Given the description of an element on the screen output the (x, y) to click on. 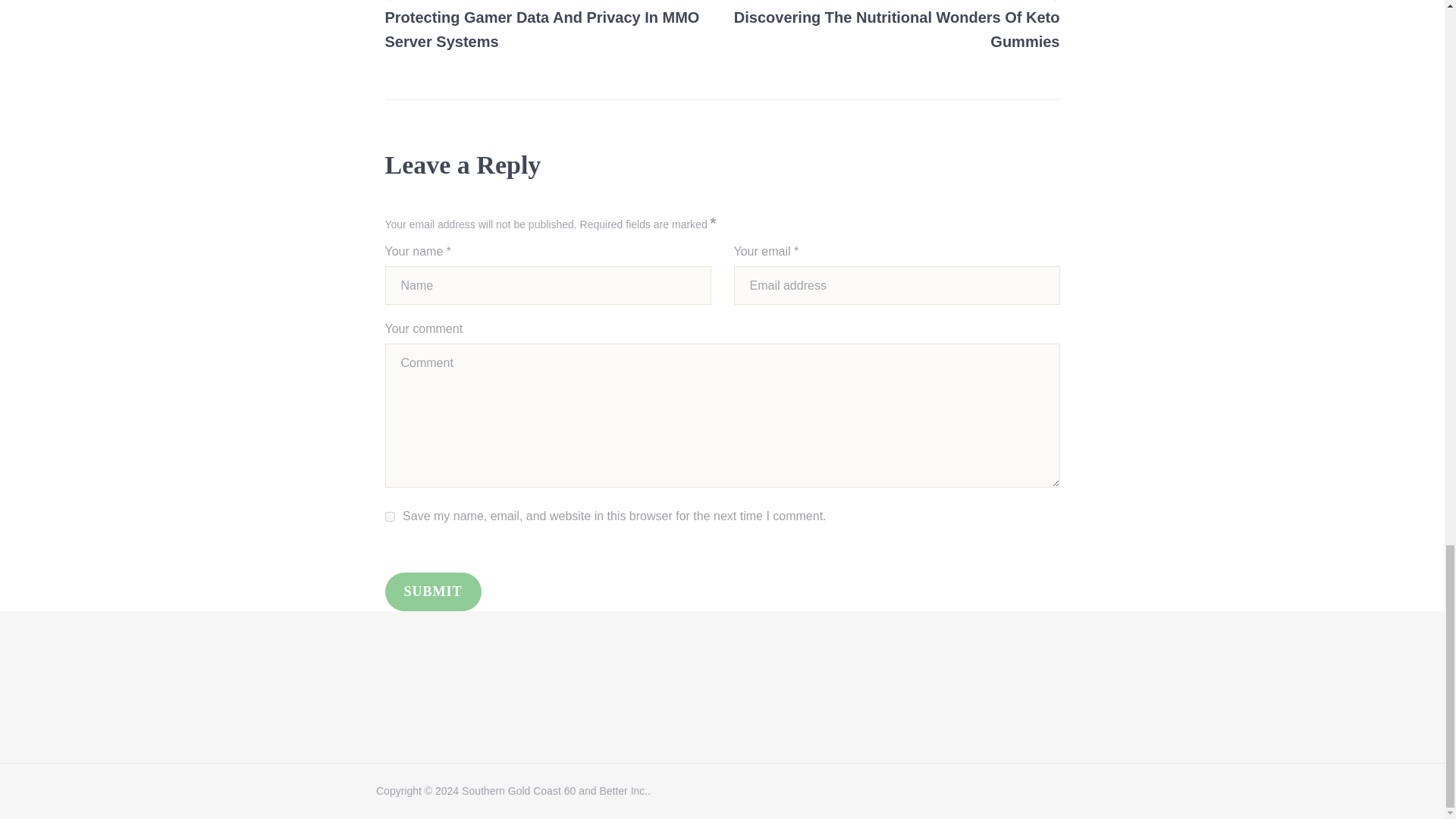
Submit (433, 591)
Submit (433, 591)
yes (896, 27)
